Given the description of an element on the screen output the (x, y) to click on. 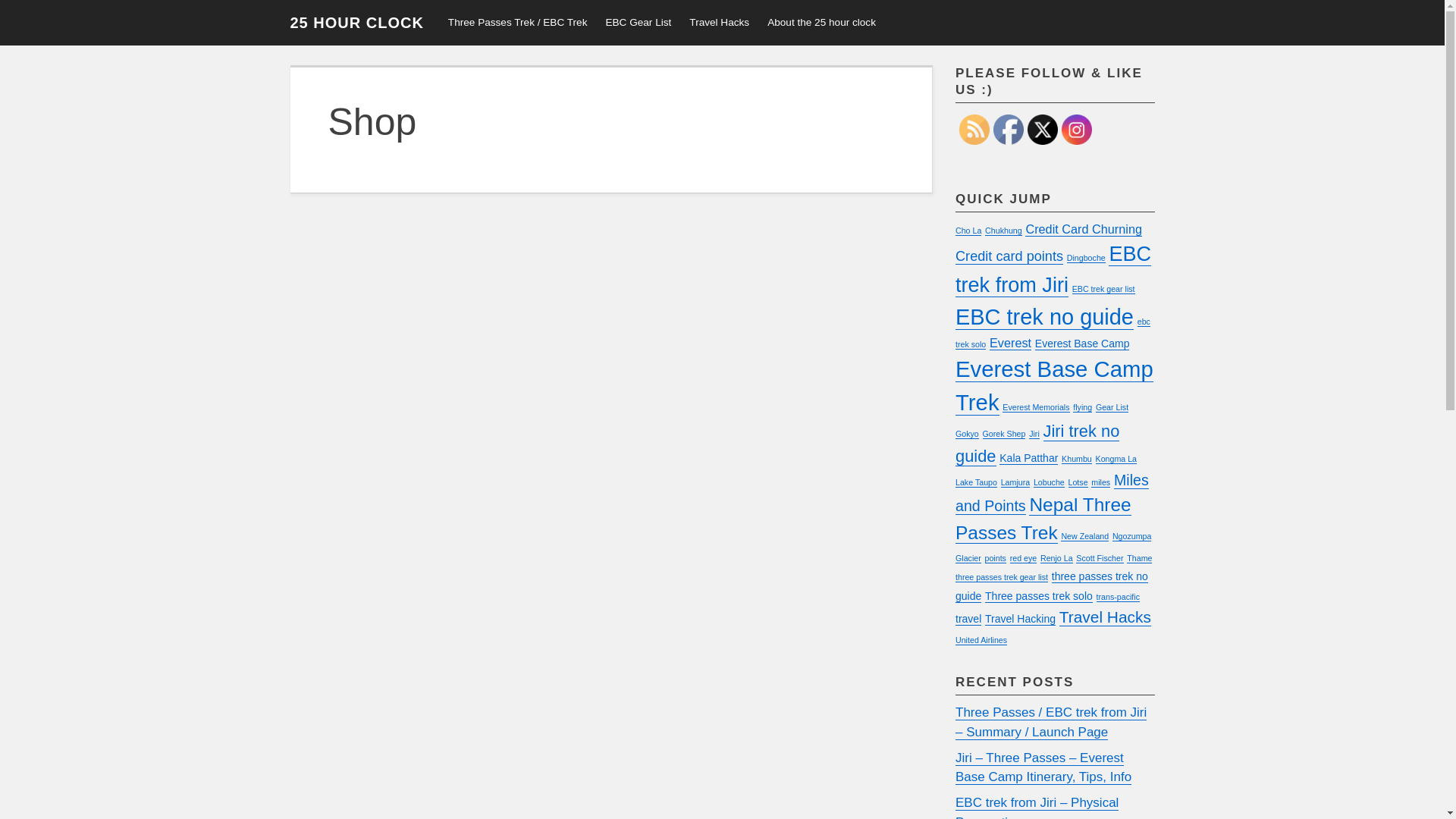
New Zealand Element type: text (1084, 536)
Travel Hacking Element type: text (1020, 618)
Miles and Points Element type: text (1051, 492)
Jiri trek no guide Element type: text (1037, 443)
United Airlines Element type: text (981, 640)
Travel Hacks Element type: text (719, 22)
Dingboche Element type: text (1085, 258)
Khumbu Element type: text (1076, 459)
Twitter Element type: hover (1042, 129)
Credit Card Churning Element type: text (1083, 229)
Thame Element type: text (1138, 558)
Gorek Shep Element type: text (1004, 434)
Lake Taupo Element type: text (976, 482)
Scott Fischer Element type: text (1099, 558)
travel Element type: text (968, 618)
Renjo La Element type: text (1056, 558)
Gokyo Element type: text (967, 434)
points Element type: text (994, 558)
Facebook Element type: hover (1008, 129)
About the 25 hour clock Element type: text (821, 22)
Kala Patthar Element type: text (1028, 457)
three passes trek gear list Element type: text (1001, 577)
EBC trek no guide Element type: text (1044, 316)
Ngozumpa Glacier Element type: text (1053, 547)
EBC Gear List Element type: text (638, 22)
miles Element type: text (1100, 482)
Everest Element type: text (1010, 342)
Everest Base Camp Element type: text (1082, 343)
Lobuche Element type: text (1048, 482)
flying Element type: text (1082, 407)
Kongma La Element type: text (1116, 459)
Three Passes Trek / EBC Trek Element type: text (517, 22)
Lotse Element type: text (1078, 482)
Chukhung Element type: text (1003, 230)
Everest Base Camp Trek Element type: text (1054, 385)
Cho La Element type: text (968, 230)
25 HOUR CLOCK Element type: text (356, 22)
trans-pacific Element type: text (1117, 597)
Three passes trek solo Element type: text (1038, 595)
Gear List Element type: text (1111, 407)
EBC trek gear list Element type: text (1103, 289)
Credit card points Element type: text (1009, 256)
Instagram Element type: hover (1076, 129)
Nepal Three Passes Trek Element type: text (1043, 518)
three passes trek no guide Element type: text (1051, 586)
RSS Element type: hover (974, 129)
red eye Element type: text (1023, 558)
Travel Hacks Element type: text (1105, 617)
EBC trek from Jiri Element type: text (1053, 269)
ebc trek solo Element type: text (1052, 332)
Lamjura Element type: text (1015, 482)
Jiri Element type: text (1034, 434)
Everest Memorials Element type: text (1035, 407)
